Given the description of an element on the screen output the (x, y) to click on. 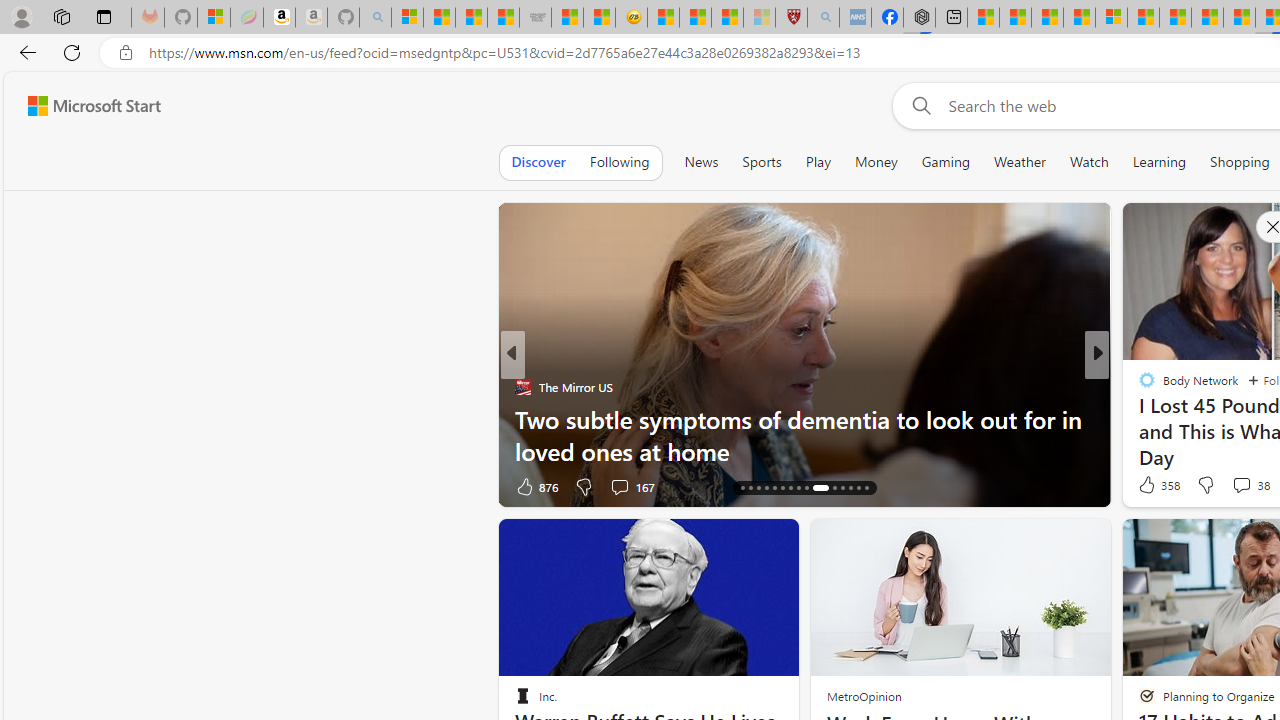
AutomationID: tab-17 (750, 487)
View comments 4 Comment (1234, 486)
Weather (1020, 161)
Gaming (945, 161)
Microsoft account | Privacy (1111, 17)
Tab actions menu (104, 16)
452 Like (1151, 486)
View comments 64 Comment (11, 485)
View comments 38 Comment (1241, 485)
See more (774, 542)
View comments 104 Comment (1234, 485)
Sports (761, 162)
MarketBeat (1138, 418)
